Given the description of an element on the screen output the (x, y) to click on. 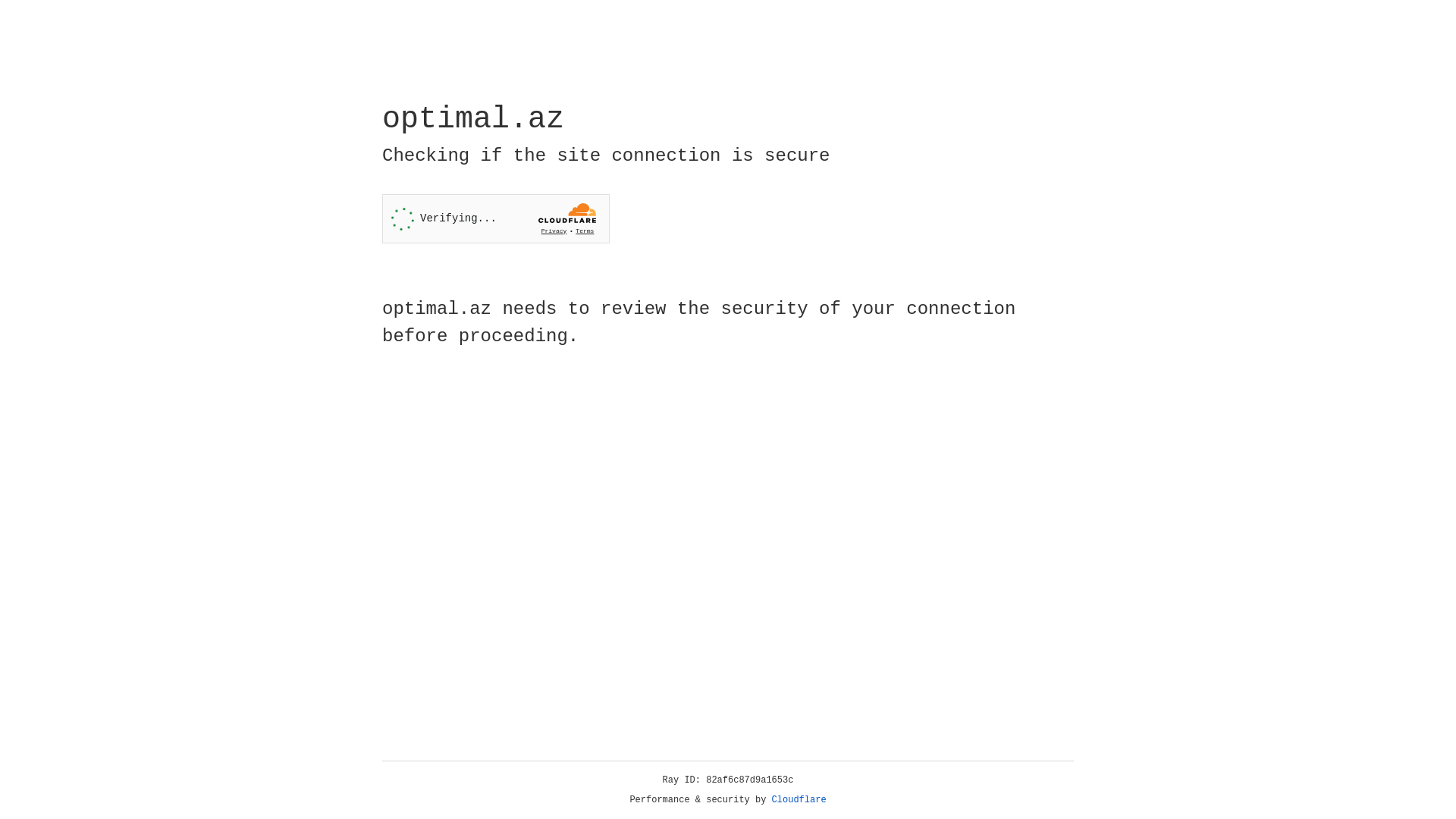
Cloudflare Element type: text (798, 799)
Widget containing a Cloudflare security challenge Element type: hover (495, 218)
